Given the description of an element on the screen output the (x, y) to click on. 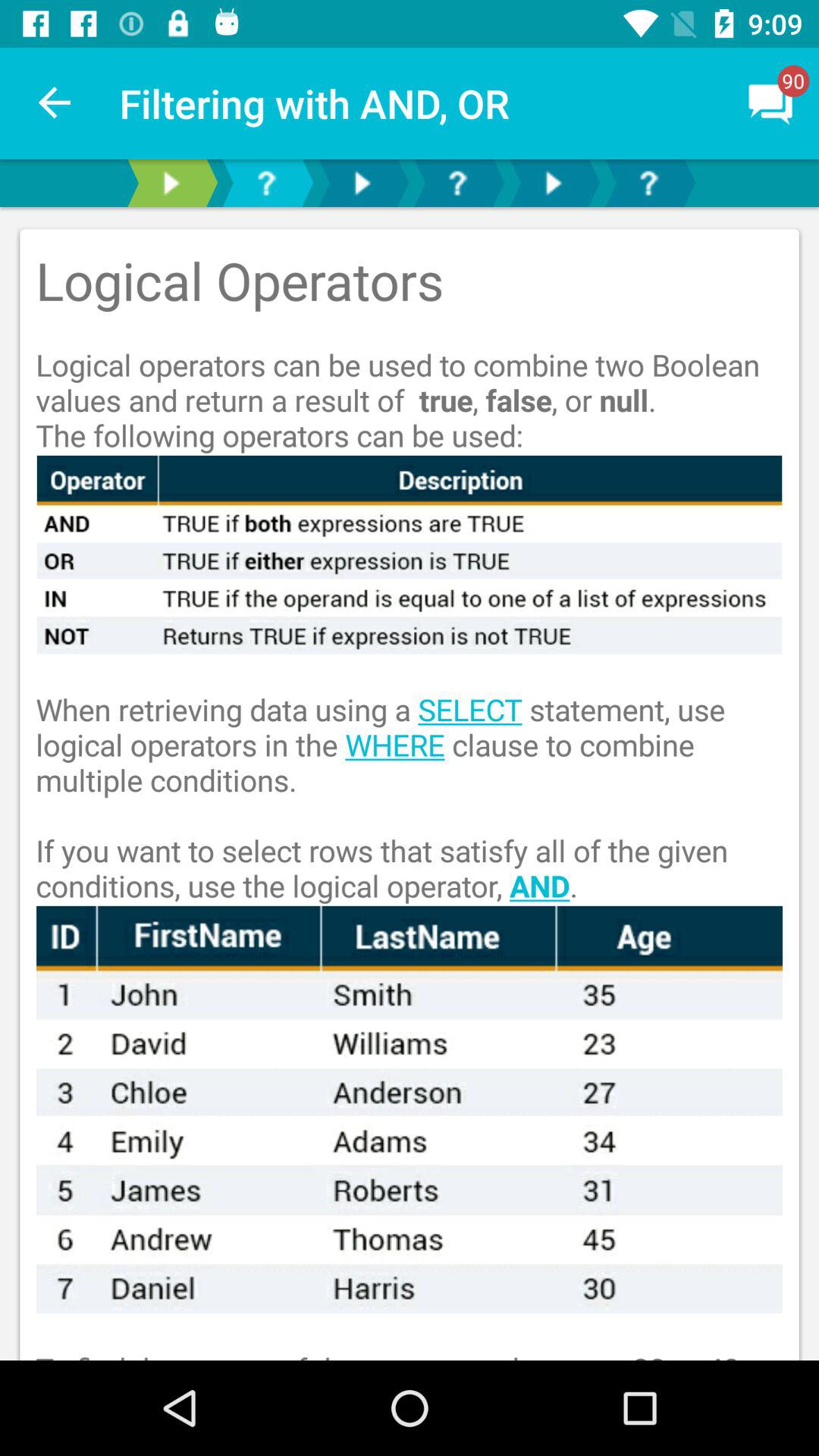
go forward (552, 183)
